Given the description of an element on the screen output the (x, y) to click on. 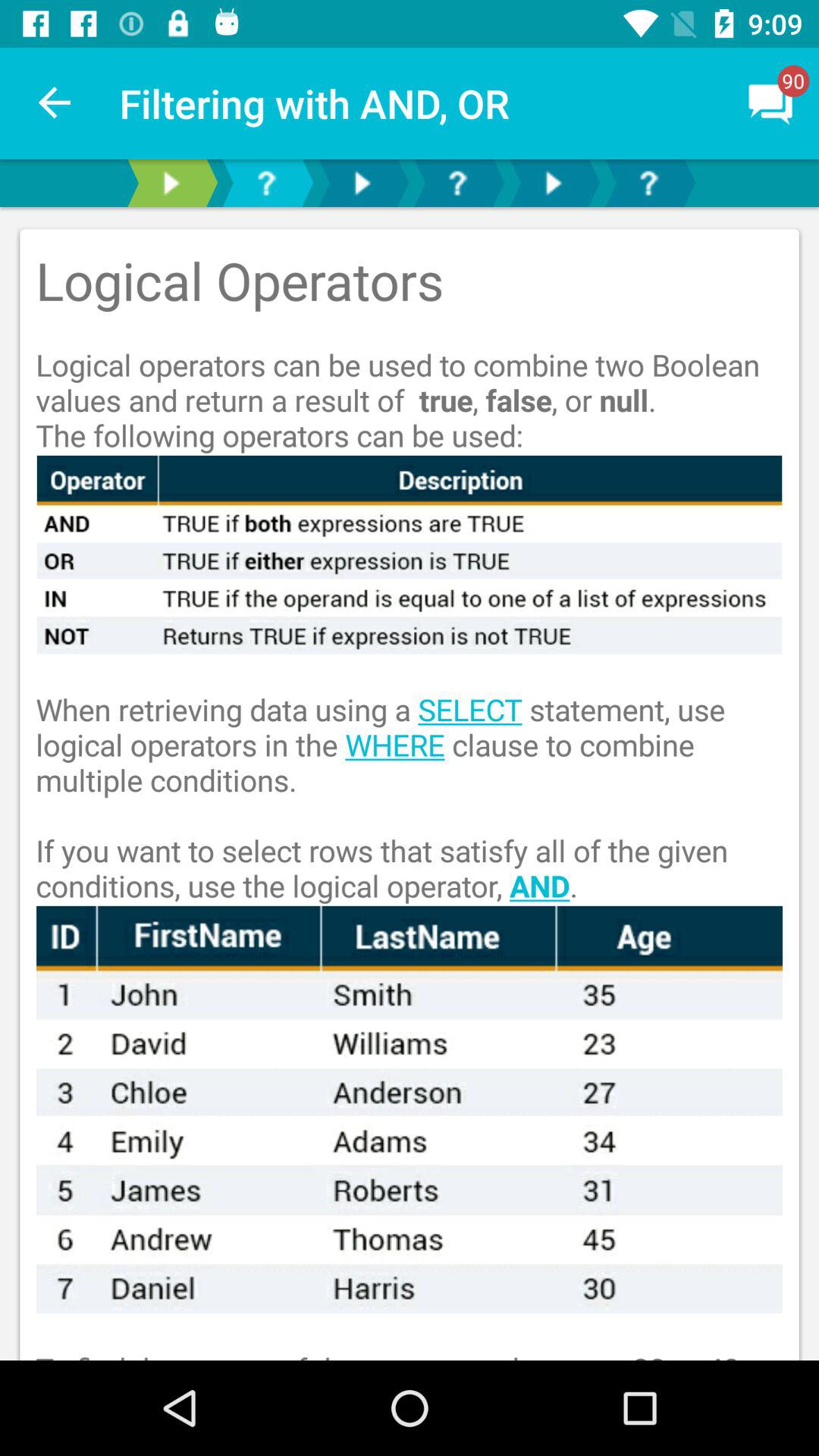
go forward (552, 183)
